Given the description of an element on the screen output the (x, y) to click on. 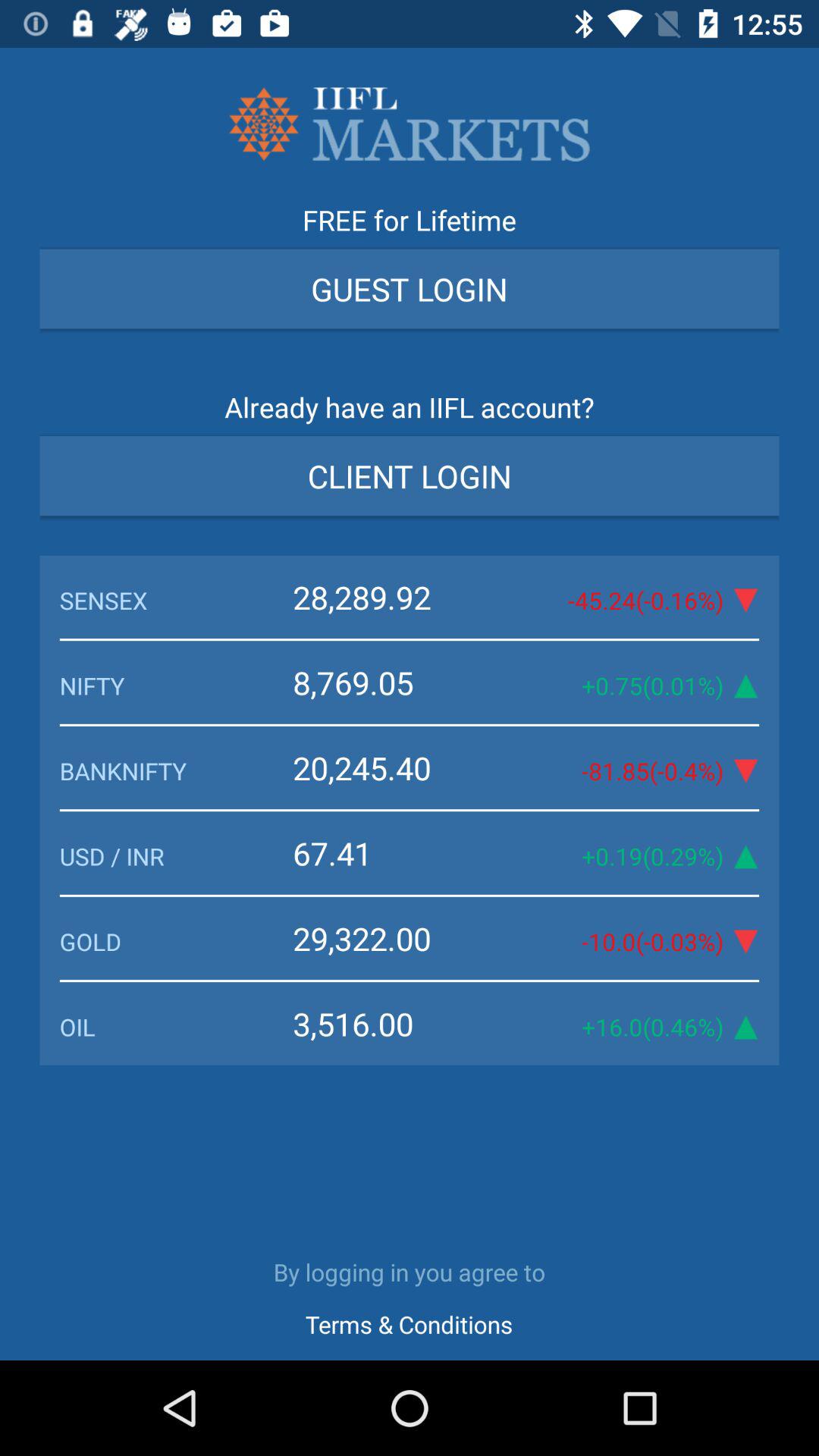
press the 45 24 0 (631, 600)
